Given the description of an element on the screen output the (x, y) to click on. 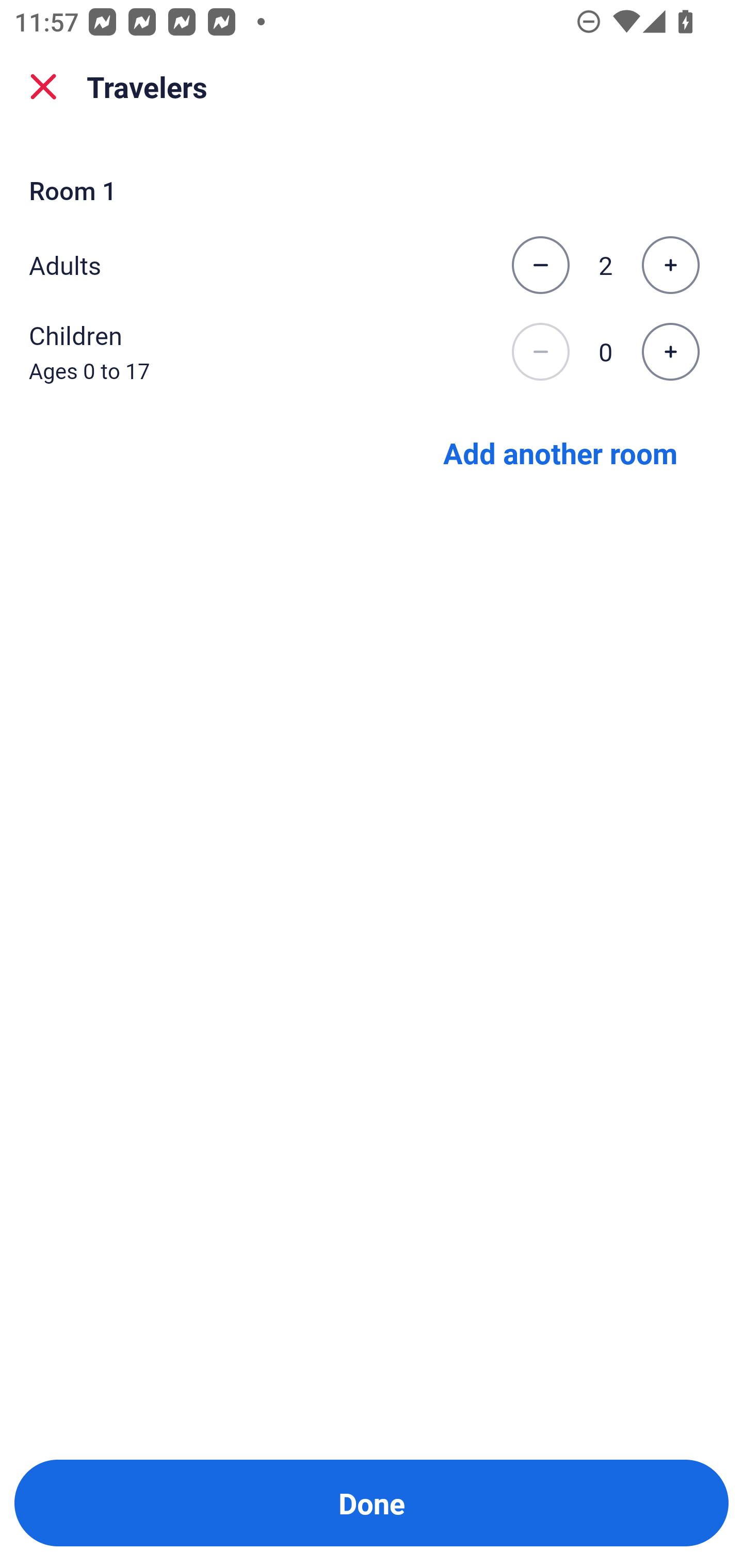
close (43, 86)
Decrease the number of adults (540, 264)
Increase the number of adults (670, 264)
Decrease the number of children (540, 351)
Increase the number of children (670, 351)
Add another room (560, 452)
Done (371, 1502)
